Given the description of an element on the screen output the (x, y) to click on. 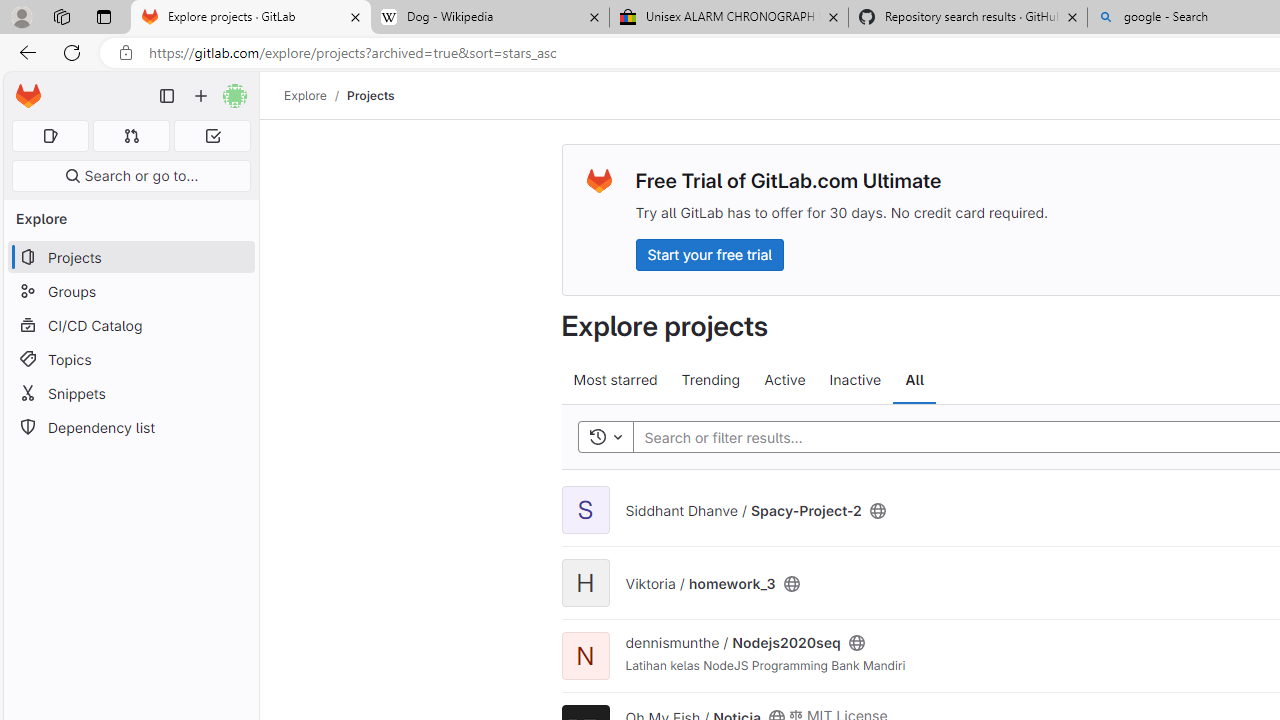
Primary navigation sidebar (167, 96)
Dog - Wikipedia (490, 17)
S (585, 510)
Active (784, 379)
Siddhant Dhanve / Spacy-Project-2 (742, 510)
Class: s16 (856, 643)
CI/CD Catalog (130, 325)
Snippets (130, 393)
Snippets (130, 393)
Projects (370, 95)
Topics (130, 358)
Viktoria / homework_3 (699, 582)
